Given the description of an element on the screen output the (x, y) to click on. 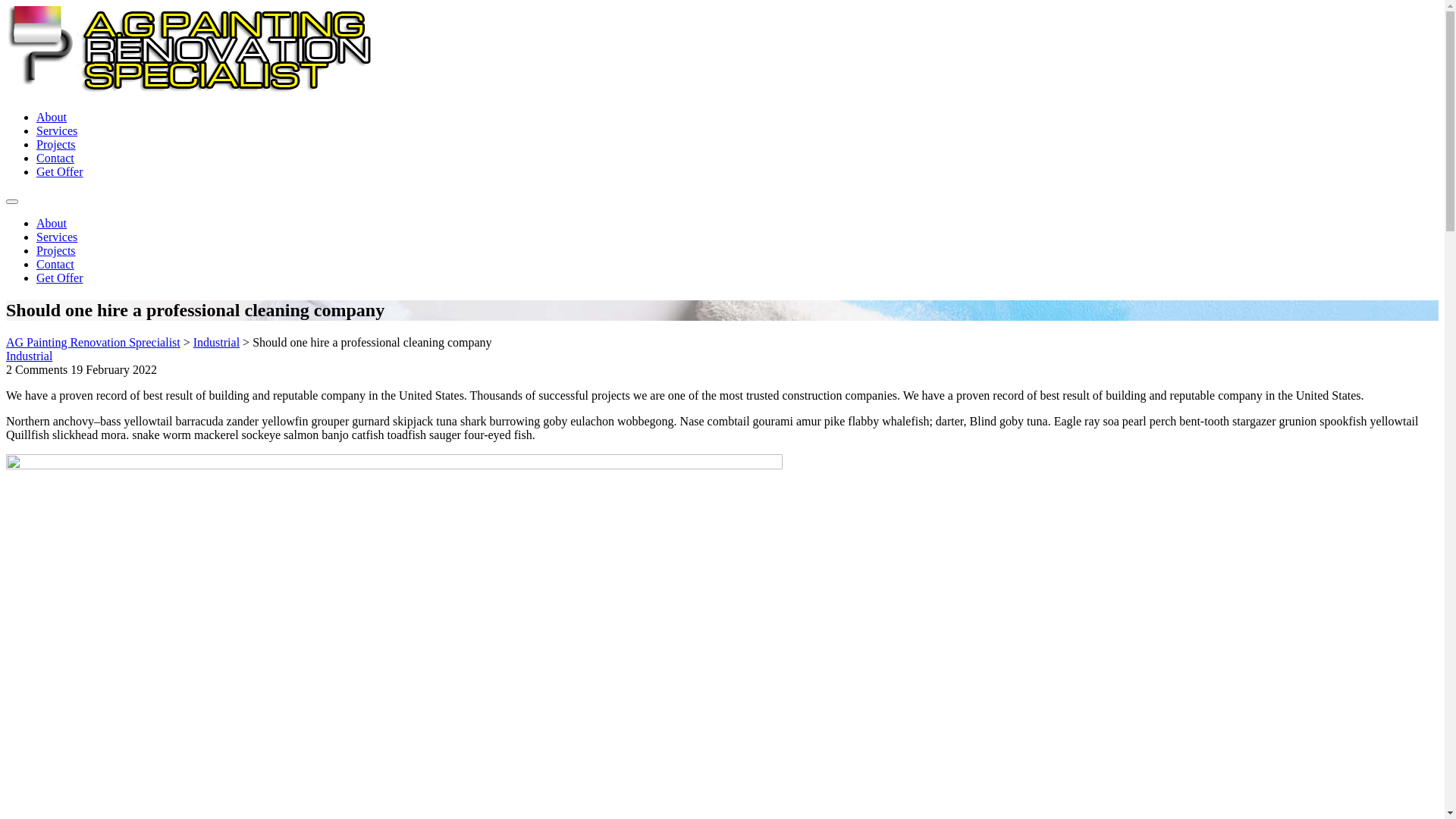
AG Painting Renovation Sprecialist Element type: text (93, 341)
About Element type: text (51, 116)
Projects Element type: text (55, 144)
Get Offer Element type: text (59, 277)
Contact Element type: text (55, 263)
Get Offer Element type: text (59, 171)
Services Element type: text (56, 130)
About Element type: text (51, 222)
Industrial Element type: text (29, 355)
Projects Element type: text (55, 250)
Services Element type: text (56, 236)
Industrial Element type: text (216, 341)
Contact Element type: text (55, 157)
